Given the description of an element on the screen output the (x, y) to click on. 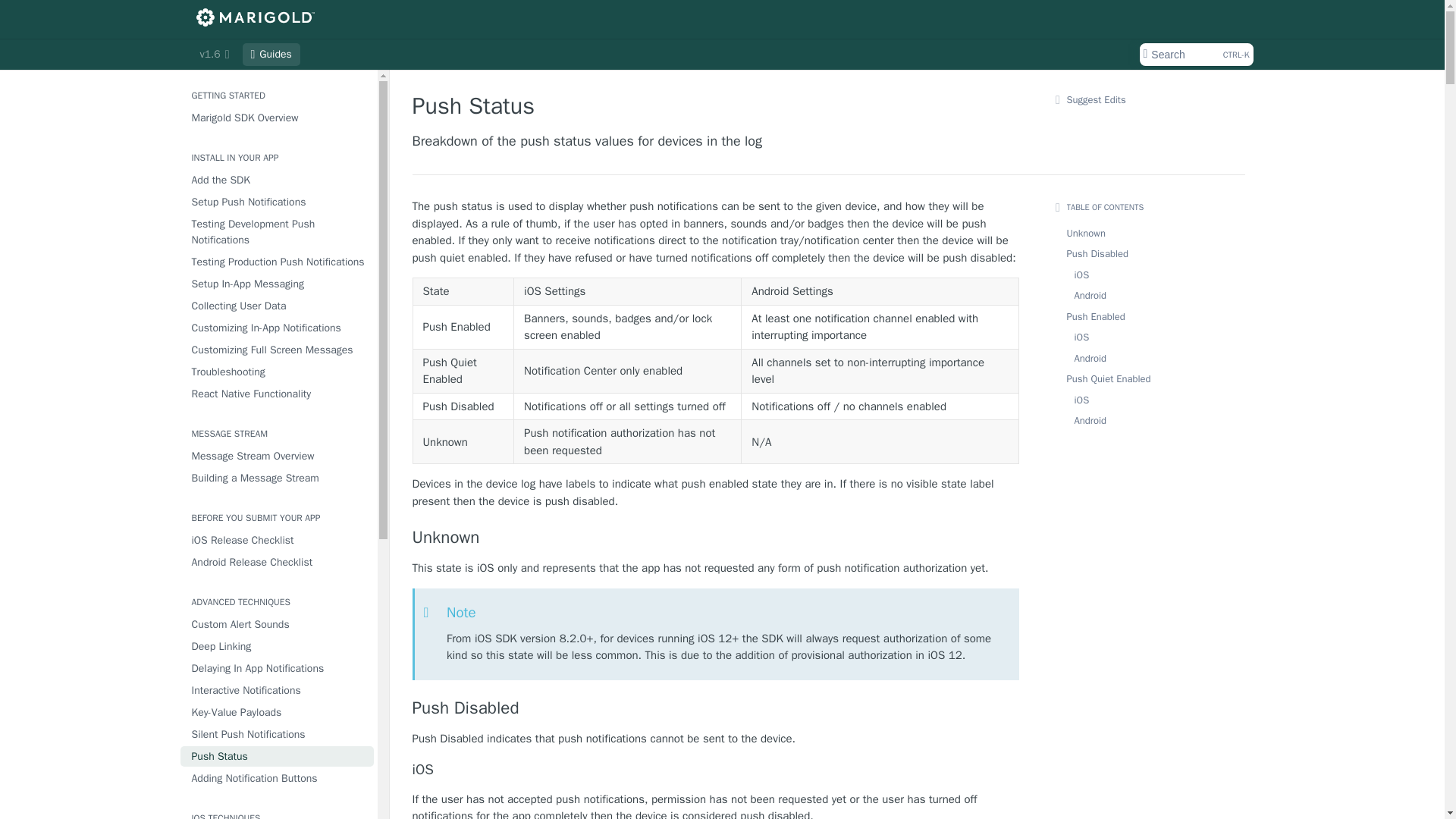
Building a Message Stream (277, 477)
Delaying In App Notifications (277, 668)
Marigold SDK Overview (277, 117)
Guides (271, 54)
Adding Notification Buttons (277, 778)
v1.6 (213, 54)
Silent Push Notifications (277, 733)
React Native Functionality (277, 394)
Add the SDK (277, 179)
Message Stream Overview (277, 455)
Collecting User Data (277, 305)
Push Status (277, 756)
Android Release Checklist (277, 562)
Customizing Full Screen Messages (277, 349)
Deep Linking (277, 646)
